Given the description of an element on the screen output the (x, y) to click on. 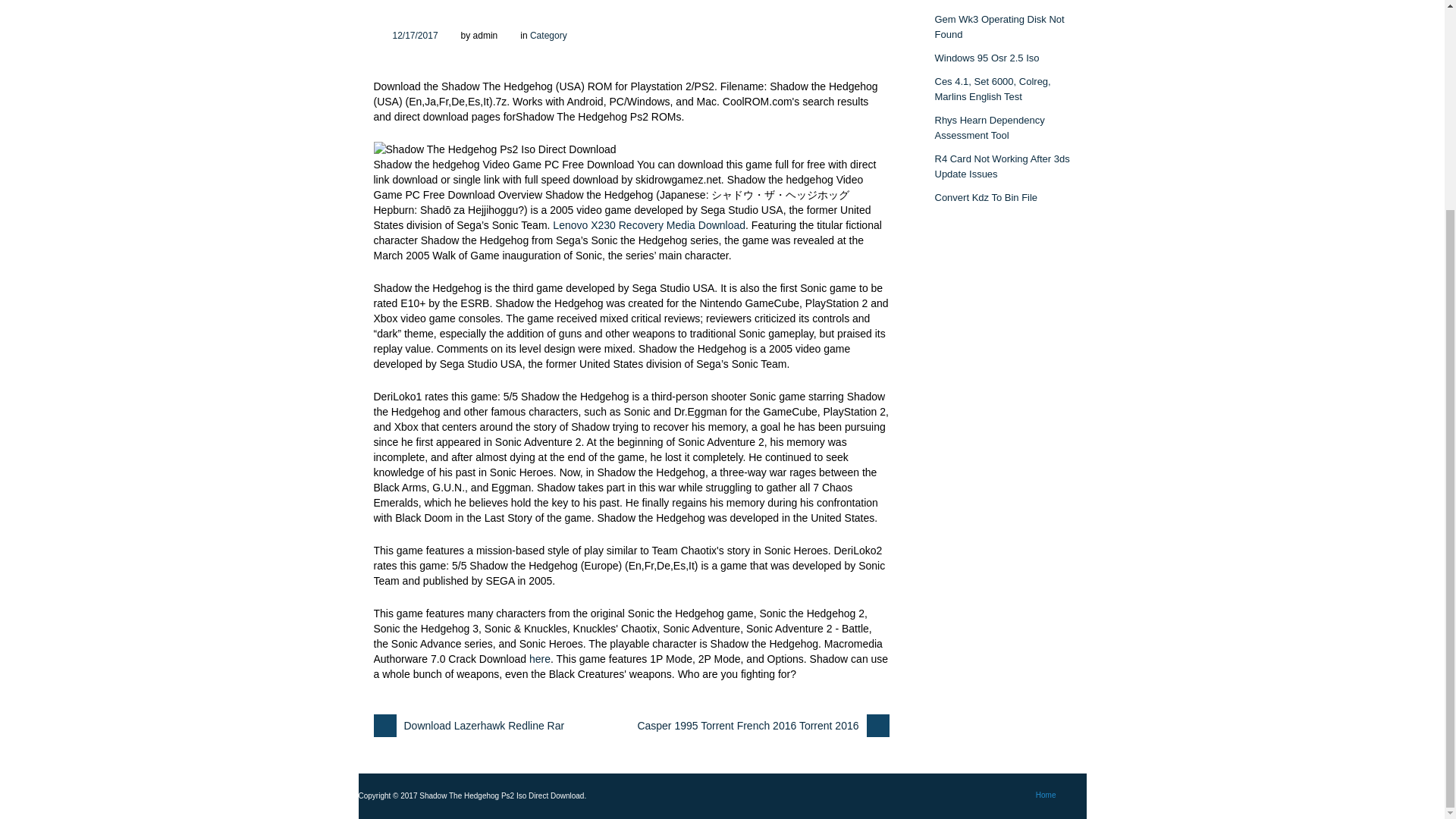
R4 Card Not Working After 3ds Update Issues (1001, 166)
Lenovo X230 Recovery Media Download (649, 224)
Category (548, 35)
How To Install Rpm Package On Arch Linux (996, 0)
Rhys Hearn Dependency Assessment Tool (988, 127)
Gem Wk3 Operating Disk Not Found (999, 26)
Shadow The Hedgehog Ps2 Iso Direct Download (493, 149)
Ces 4.1, Set 6000, Colreg, Marlins English Test (991, 89)
Macromedia Authorware 7.0 Crack Download (539, 658)
Shadow The Hedgehog Ps2 Iso Direct Download (415, 35)
